Given the description of an element on the screen output the (x, y) to click on. 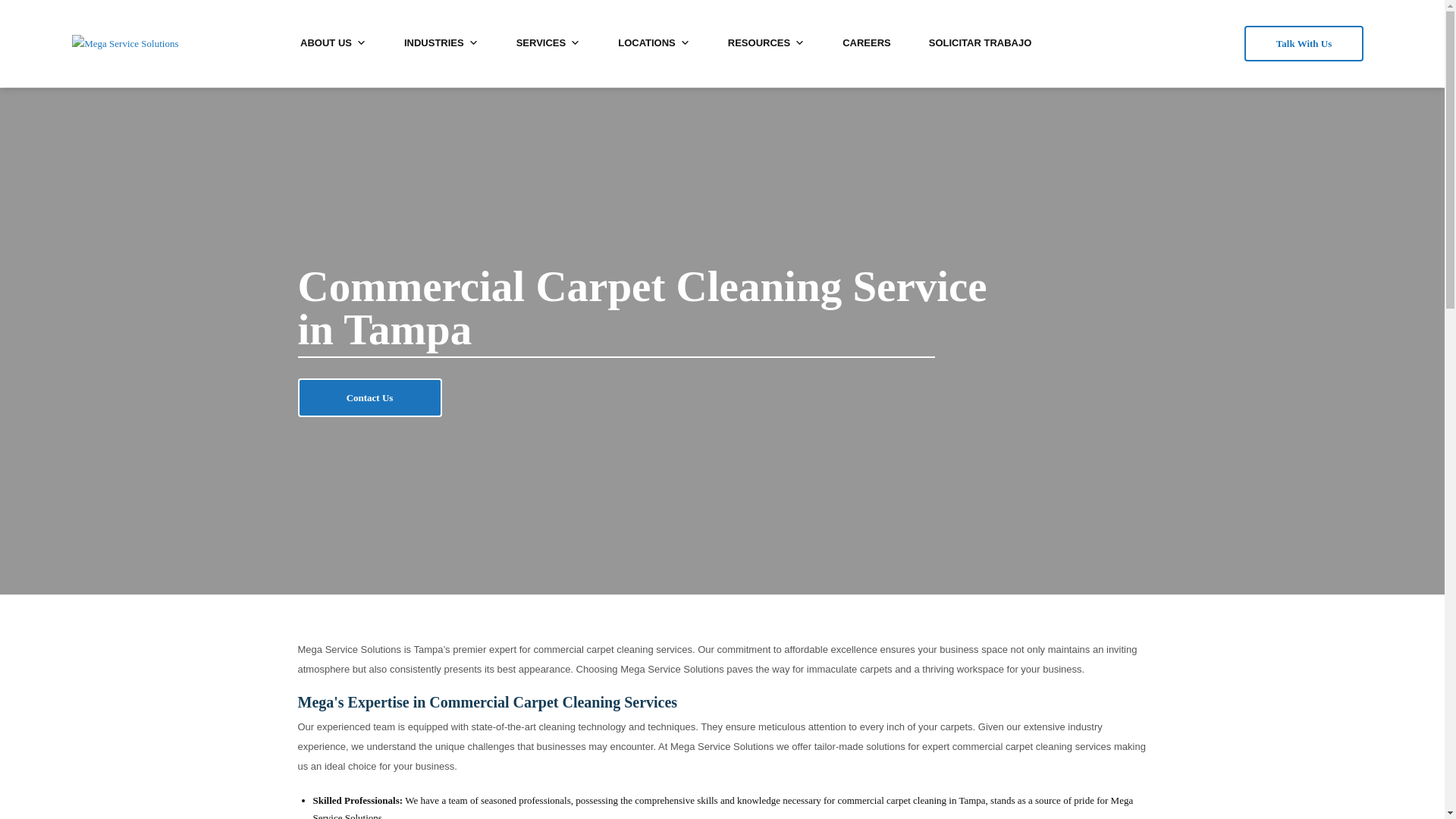
ABOUT US (333, 42)
INDUSTRIES (441, 42)
SERVICES (548, 42)
